Given the description of an element on the screen output the (x, y) to click on. 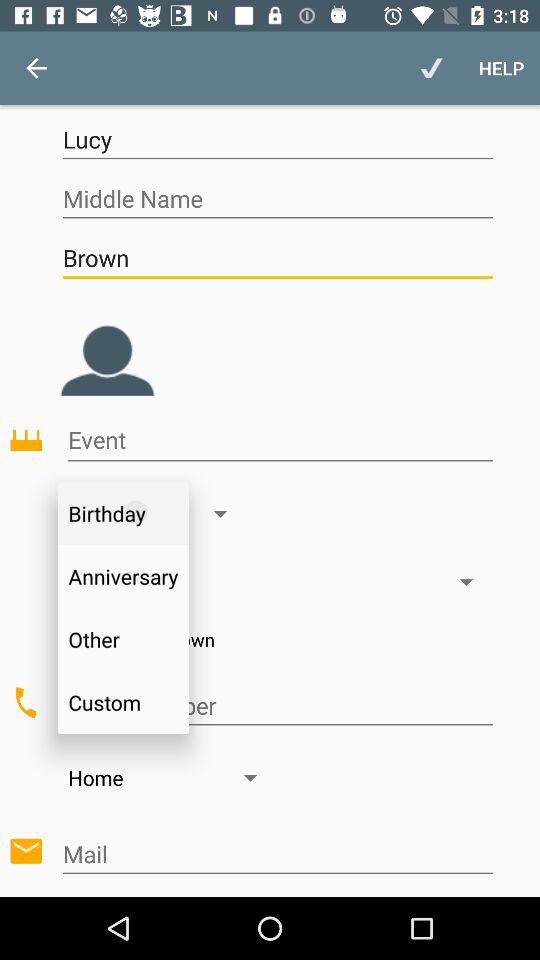
enter event name (280, 439)
